Given the description of an element on the screen output the (x, y) to click on. 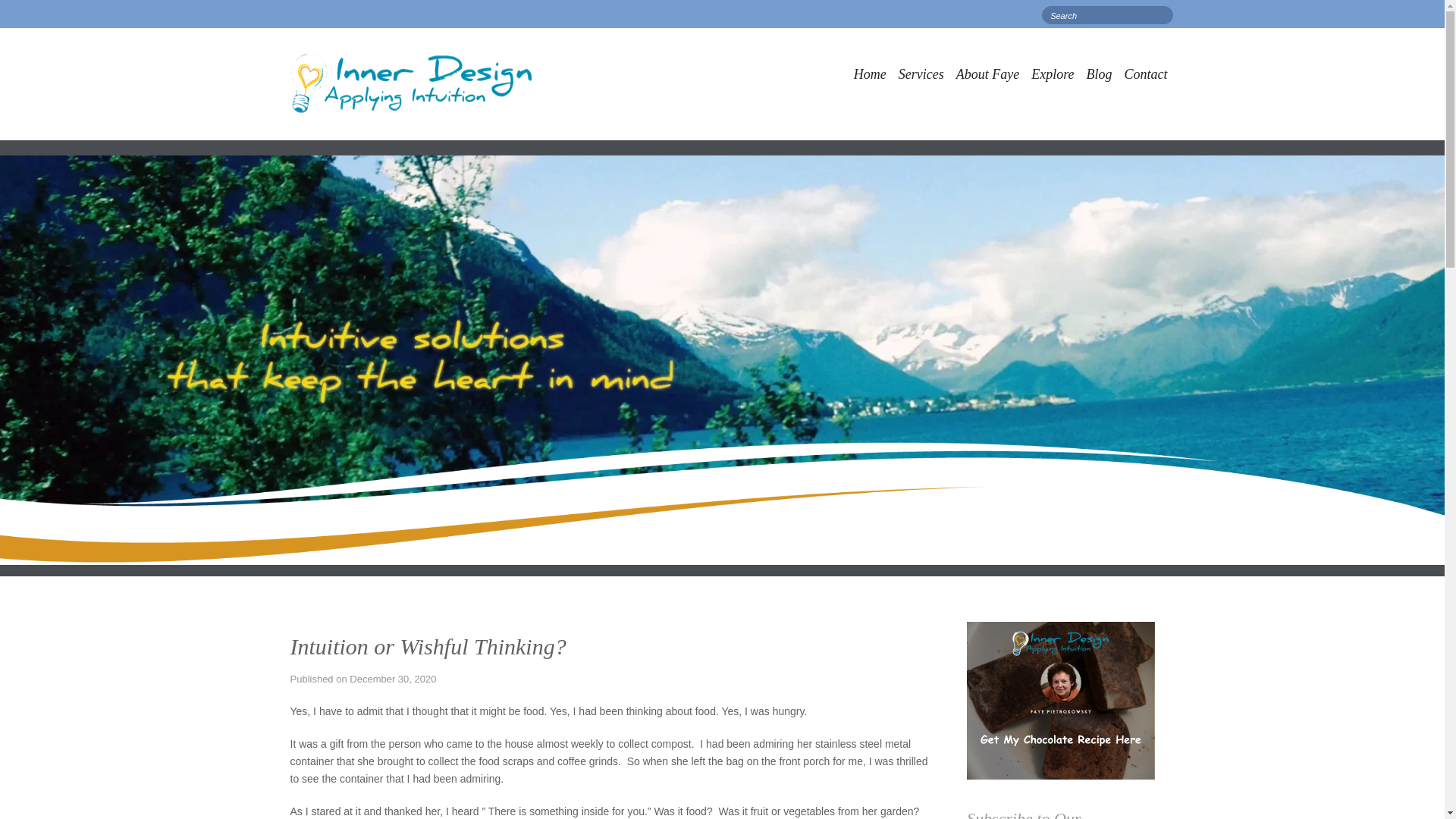
About Faye (987, 74)
Blog (410, 82)
Home (1099, 74)
Services (869, 74)
Contact (921, 74)
Explore (1145, 74)
